Given the description of an element on the screen output the (x, y) to click on. 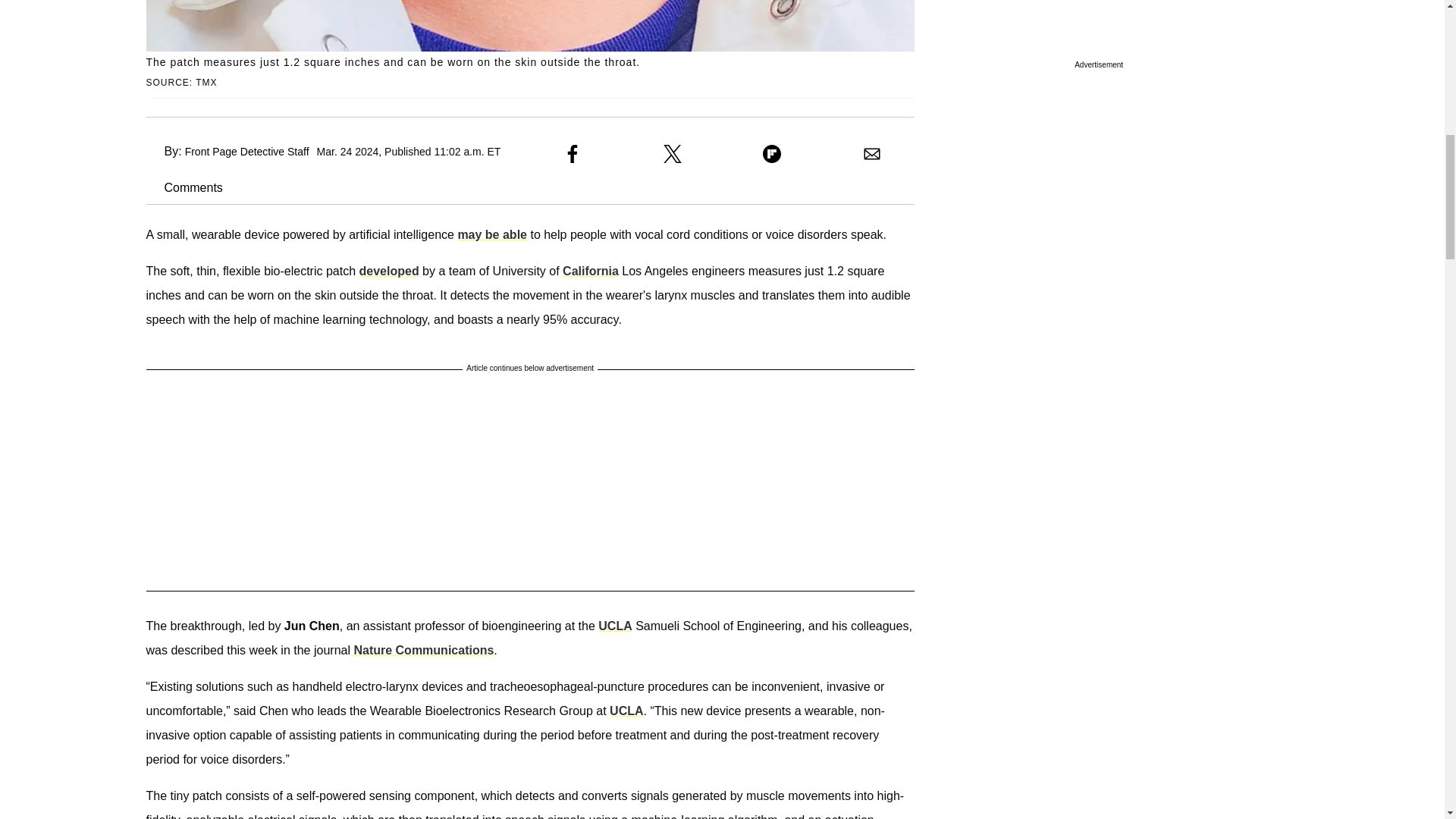
California (590, 270)
Share to X (672, 153)
Comments (183, 187)
Share to Email (871, 153)
UCLA (626, 710)
UCLA (614, 625)
Share to Facebook (571, 153)
Front Page Detective Staff (246, 151)
may be able (492, 234)
developed (389, 270)
Share to Flipboard (771, 153)
Nature Communications (421, 649)
